Given the description of an element on the screen output the (x, y) to click on. 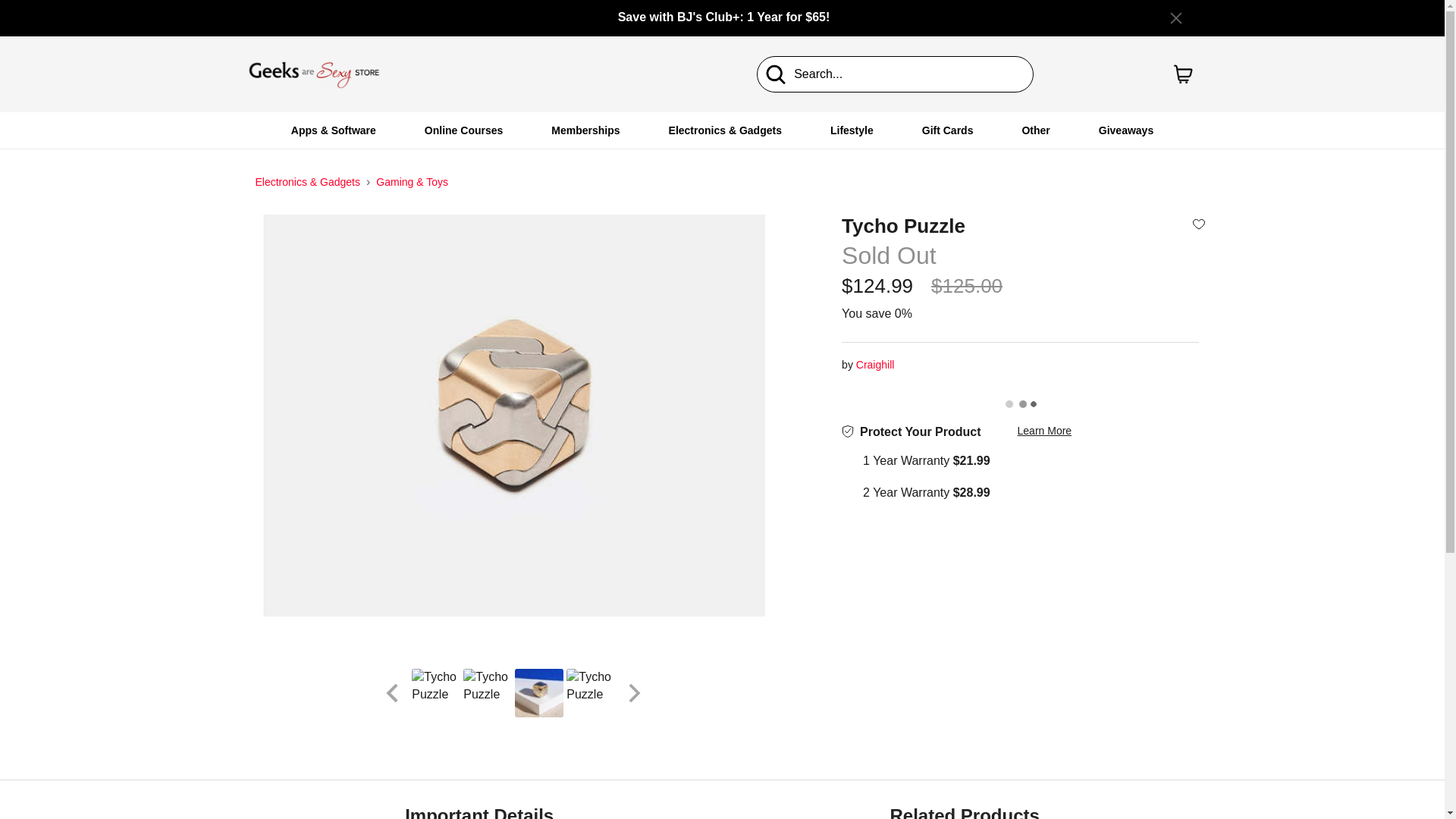
Add to wishlist (1198, 223)
